Given the description of an element on the screen output the (x, y) to click on. 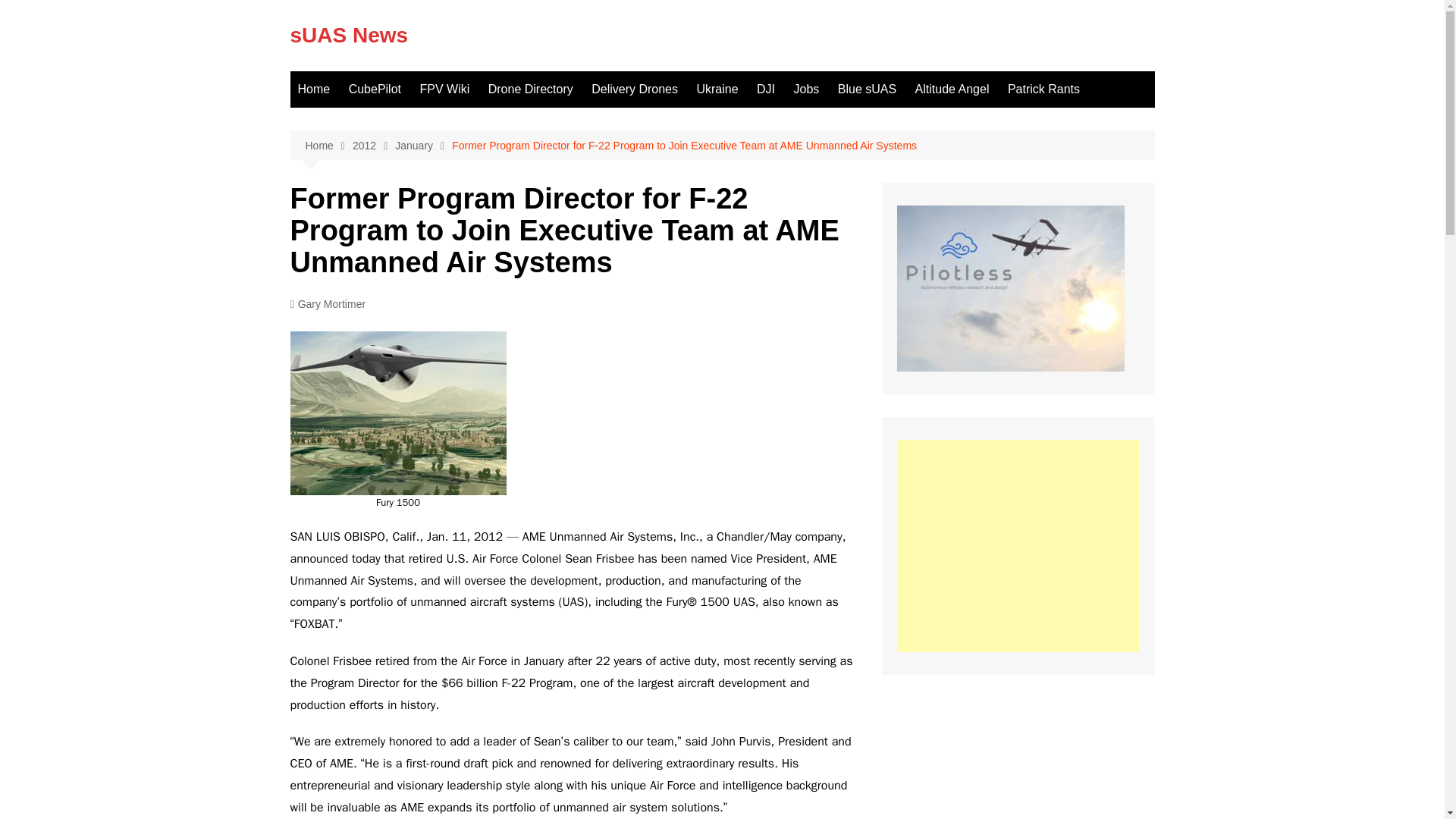
Altitude Angel (952, 89)
Jobs (806, 89)
CubePilot (374, 89)
Home (313, 89)
FPV Wiki (444, 89)
DJI (766, 89)
January (422, 145)
Gary Mortimer (327, 303)
2012 (373, 145)
afghan-Fury1500-111011-007sm (397, 413)
Drone Directory (530, 89)
Home (328, 145)
Ukraine (716, 89)
Blue sUAS (866, 89)
